Given the description of an element on the screen output the (x, y) to click on. 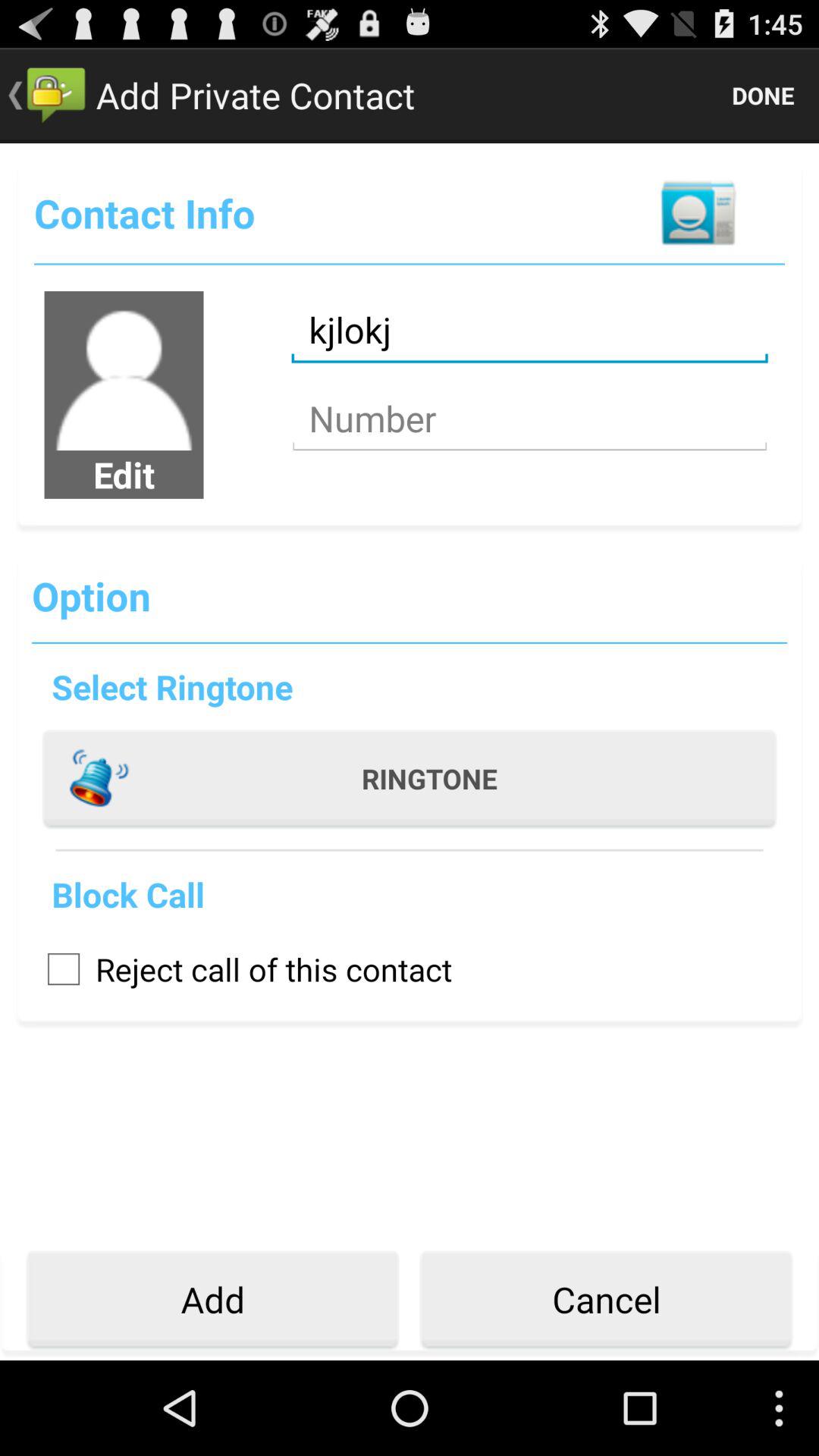
profile symbol (123, 370)
